Given the description of an element on the screen output the (x, y) to click on. 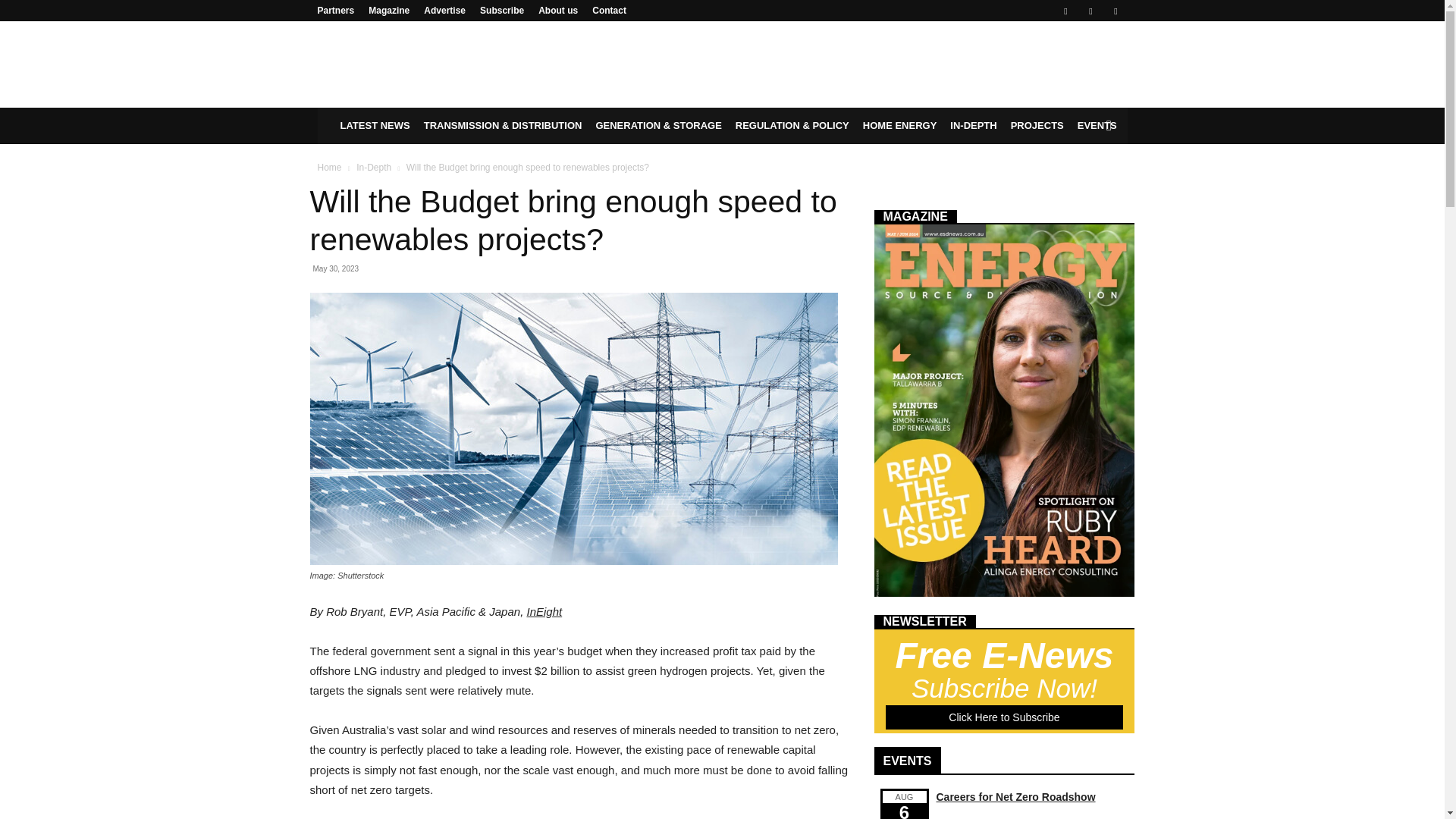
IN-DEPTH (973, 125)
Linkedin (1090, 10)
EVENTS (1097, 125)
HOME ENERGY (899, 125)
About us (558, 9)
Home (328, 167)
LATEST NEWS (374, 125)
In-Depth (373, 167)
Magazine (388, 9)
Advertise (444, 9)
Partners (335, 9)
Facebook (1065, 10)
Twitter (1114, 10)
